Given the description of an element on the screen output the (x, y) to click on. 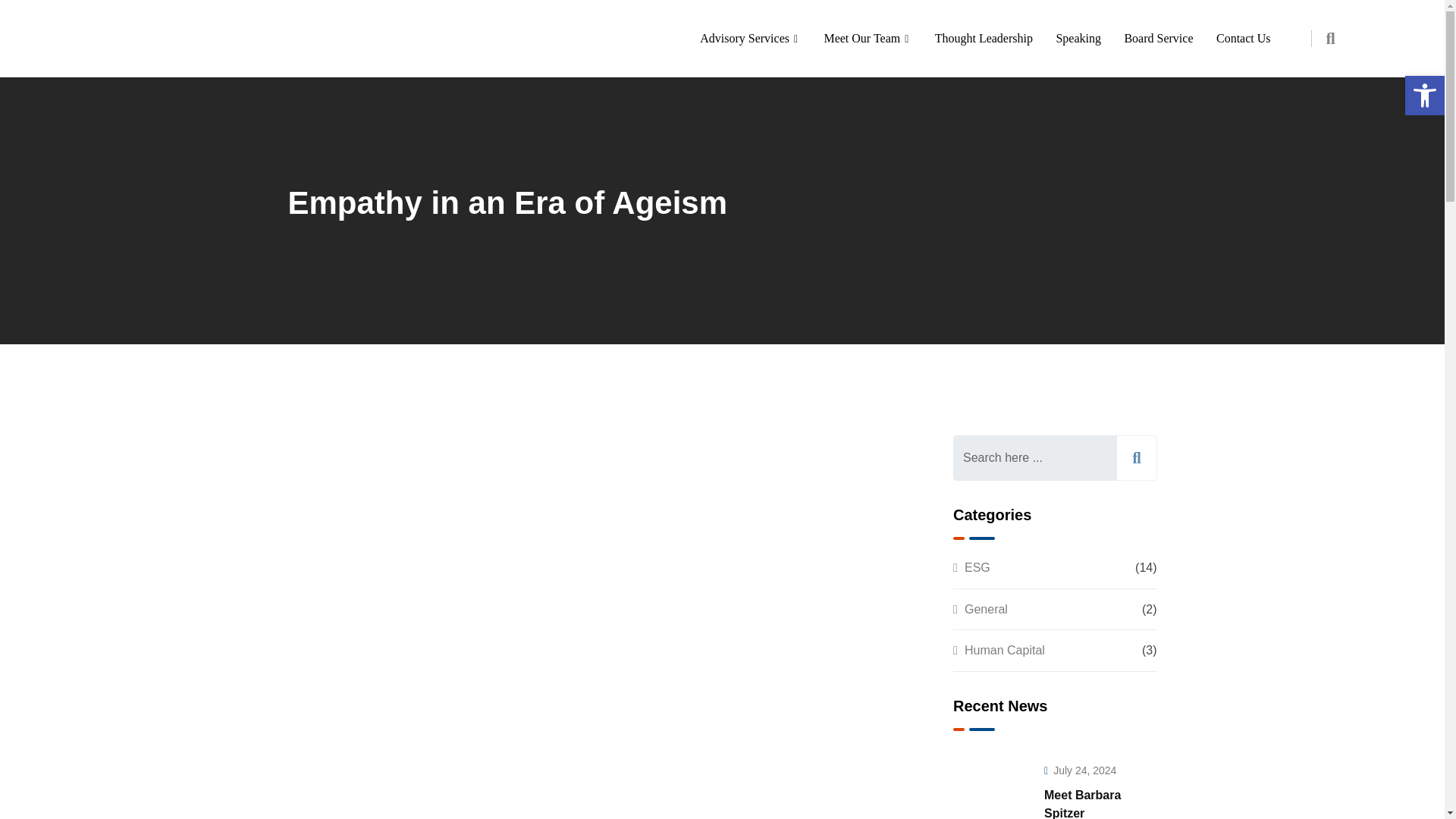
Accessibility Tools (1424, 95)
Board Service (1157, 38)
Advisory Services (750, 38)
Meet Our Team (867, 38)
Meet Barbara Spitzer (991, 785)
Contact Us (1244, 38)
Thought Leadership (983, 38)
